Given the description of an element on the screen output the (x, y) to click on. 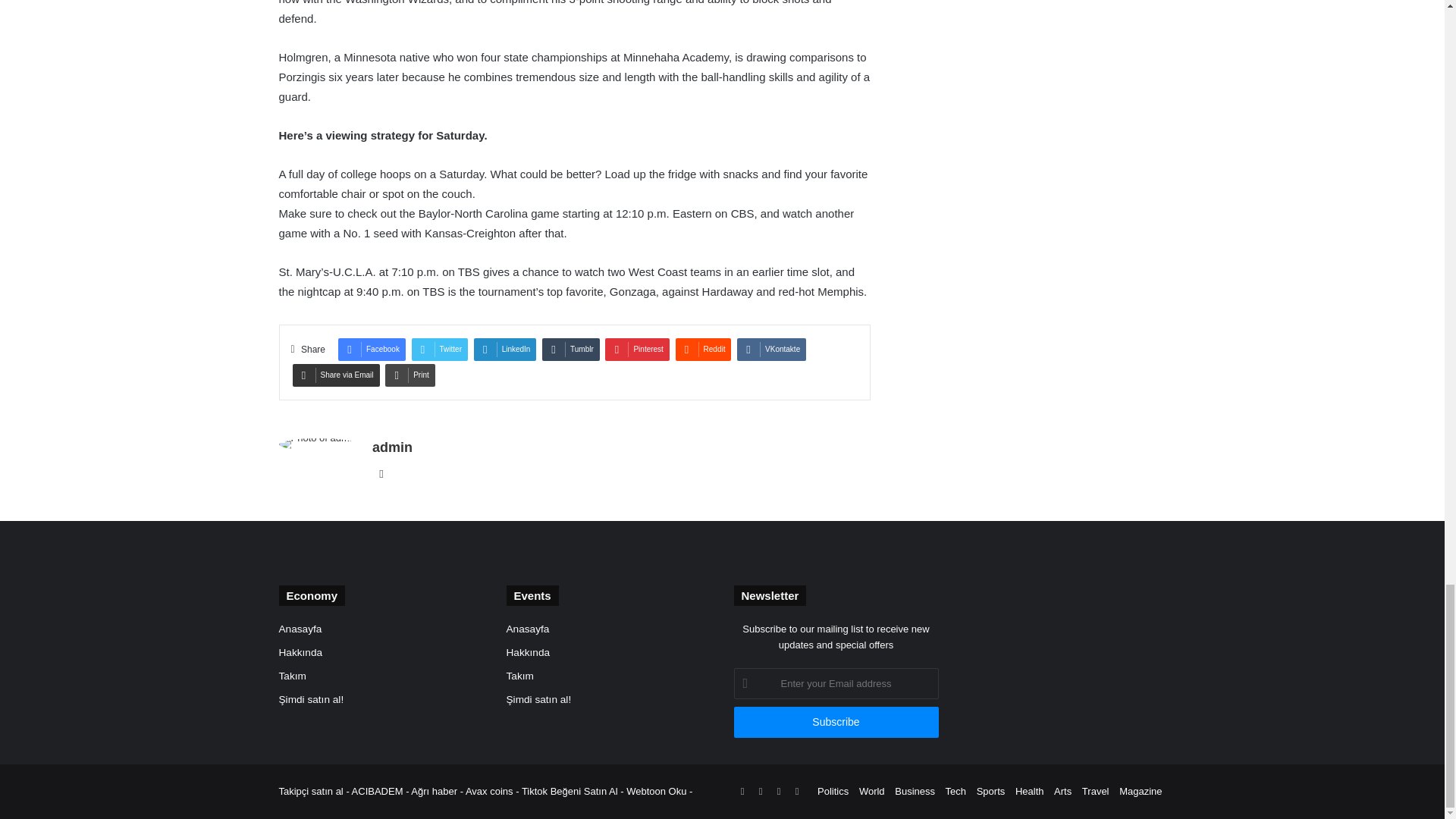
Subscribe (836, 721)
